Given the description of an element on the screen output the (x, y) to click on. 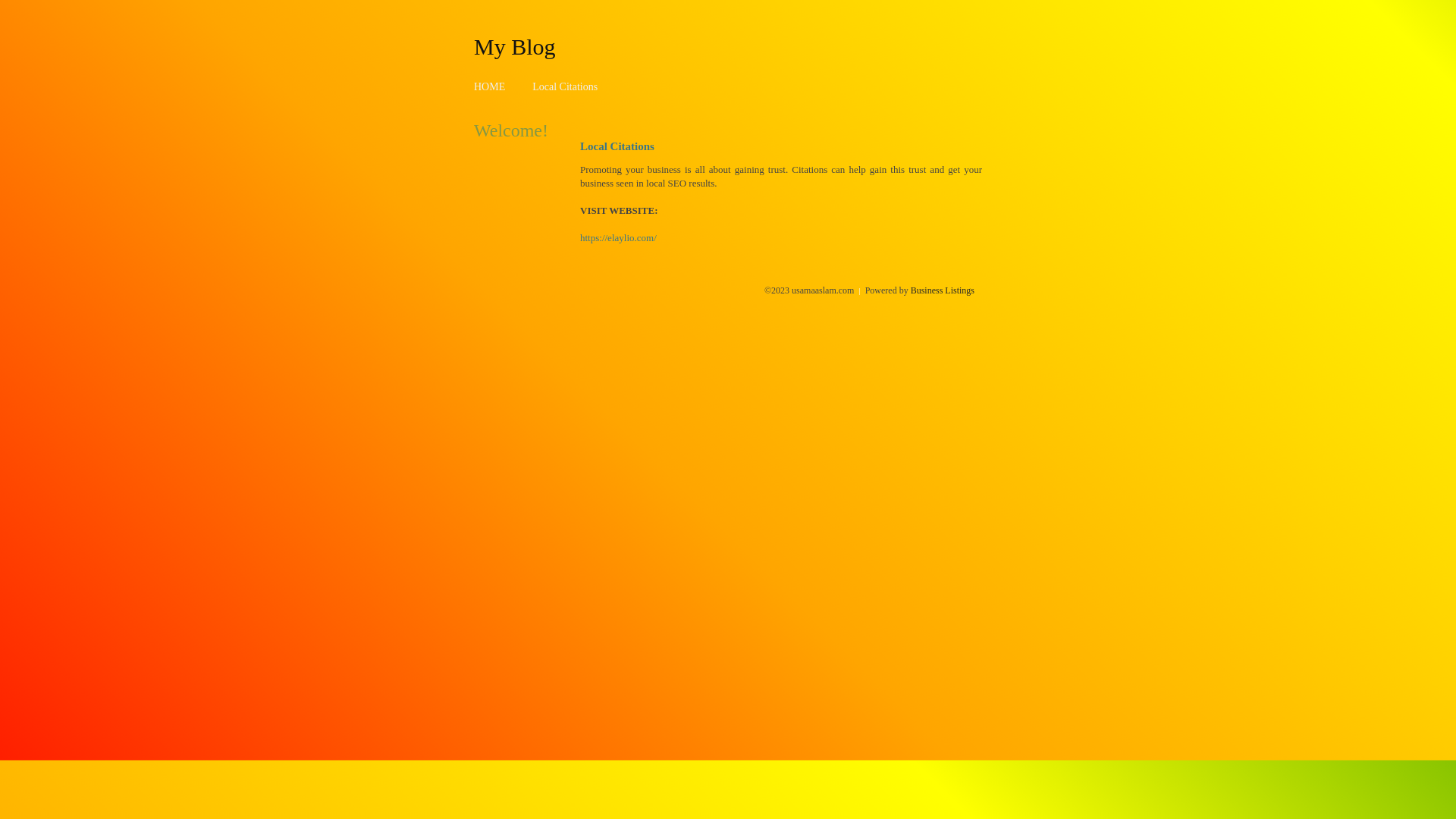
My Blog Element type: text (514, 46)
Business Listings Element type: text (942, 290)
https://elaylio.com/ Element type: text (618, 237)
HOME Element type: text (489, 86)
Local Citations Element type: text (564, 86)
